Given the description of an element on the screen output the (x, y) to click on. 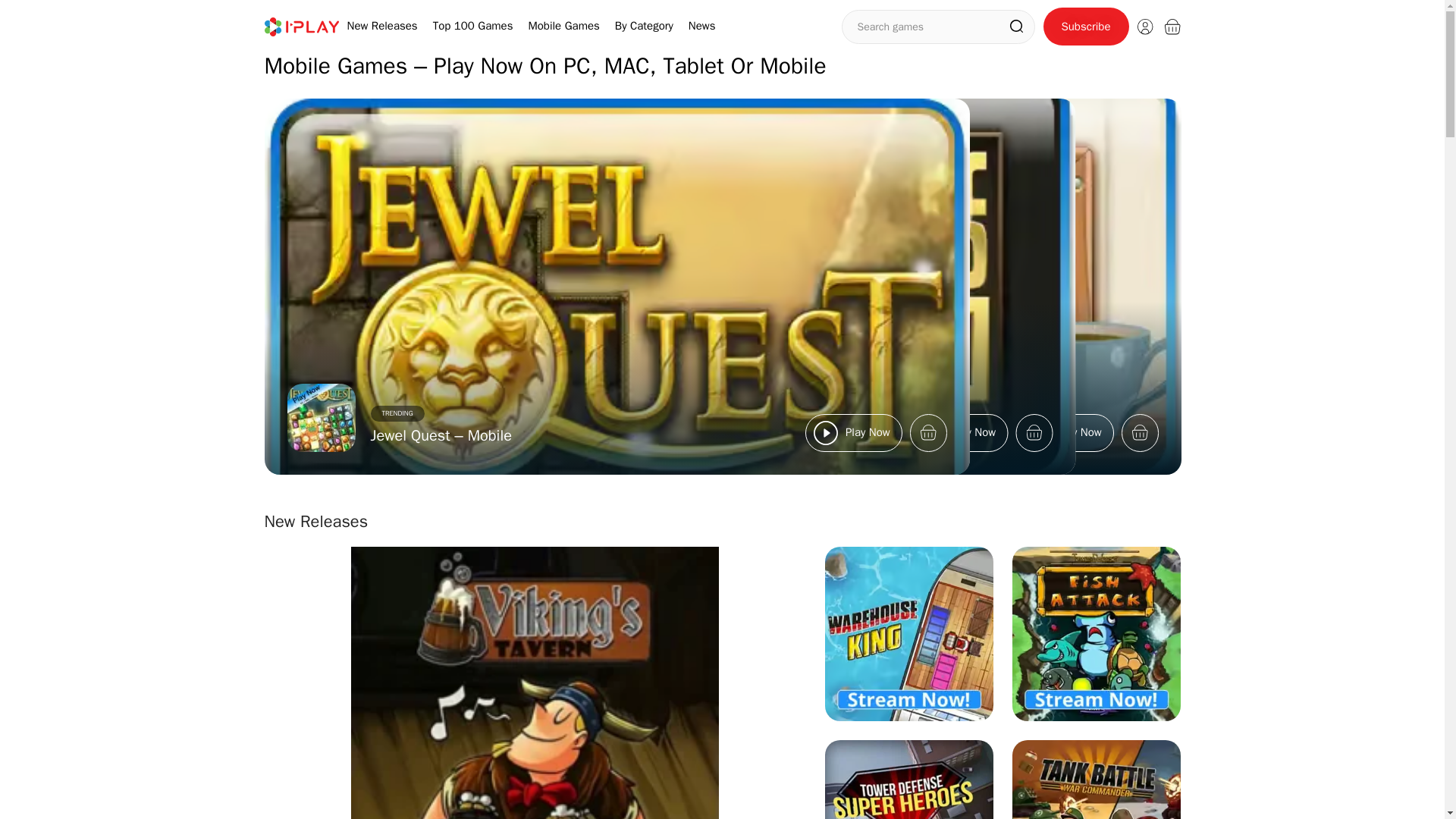
By Category (643, 25)
Play Now (851, 432)
Search (1017, 26)
Daily Jigsaw (622, 434)
News (702, 25)
Search (1017, 26)
Search (1017, 26)
New Releases (382, 25)
Play Now (1063, 432)
Subscribe (1086, 26)
Deal or No Deal for Prizes (561, 434)
Top 100 Games (472, 25)
Play Now (956, 432)
Mobile Games (562, 25)
